Given the description of an element on the screen output the (x, y) to click on. 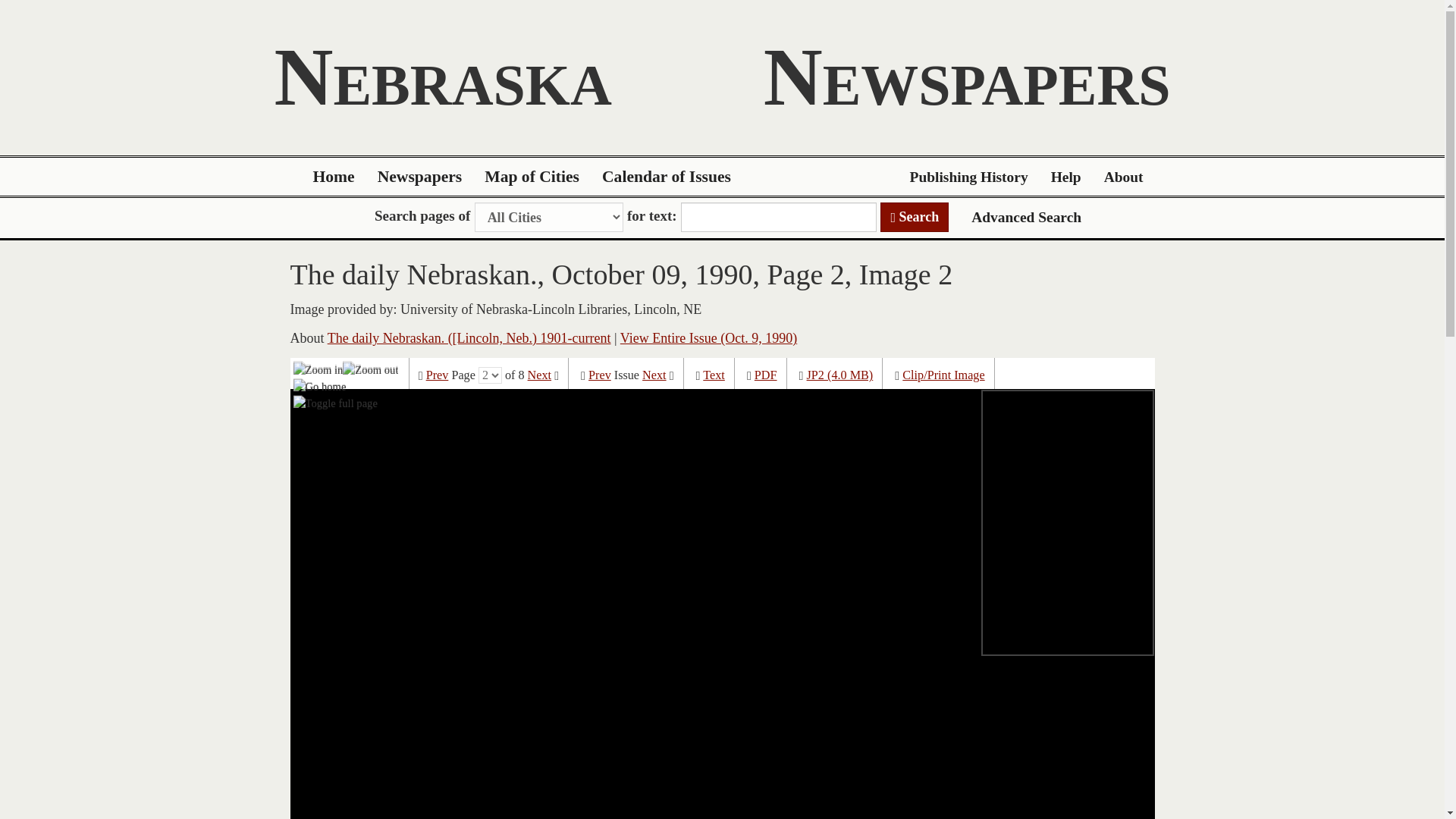
PDF (765, 375)
Calendar of Issues (666, 176)
Toggle full page (335, 402)
Map of Cities (532, 176)
Zoom out (369, 369)
Text (714, 375)
Advanced Search (1026, 216)
Next (653, 375)
Newspapers (420, 176)
Zoom in (318, 369)
